Given the description of an element on the screen output the (x, y) to click on. 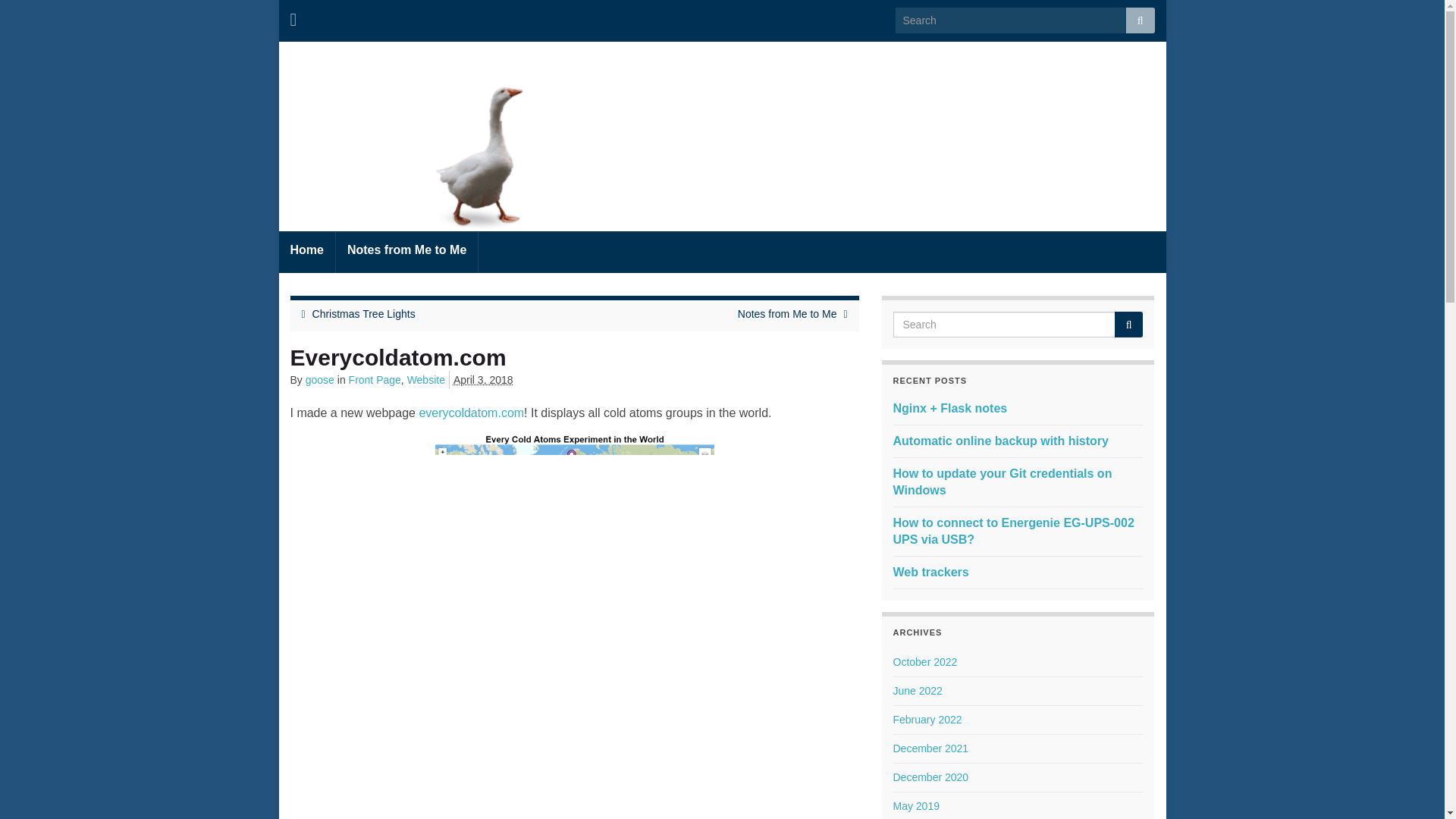
February 2022 (927, 719)
Go back to the front page (721, 137)
Notes from Me to Me (406, 251)
Home (306, 251)
Automatic online backup with history (1000, 440)
Front Page (375, 379)
Website (426, 379)
May 2019 (916, 806)
goose (319, 379)
